Given the description of an element on the screen output the (x, y) to click on. 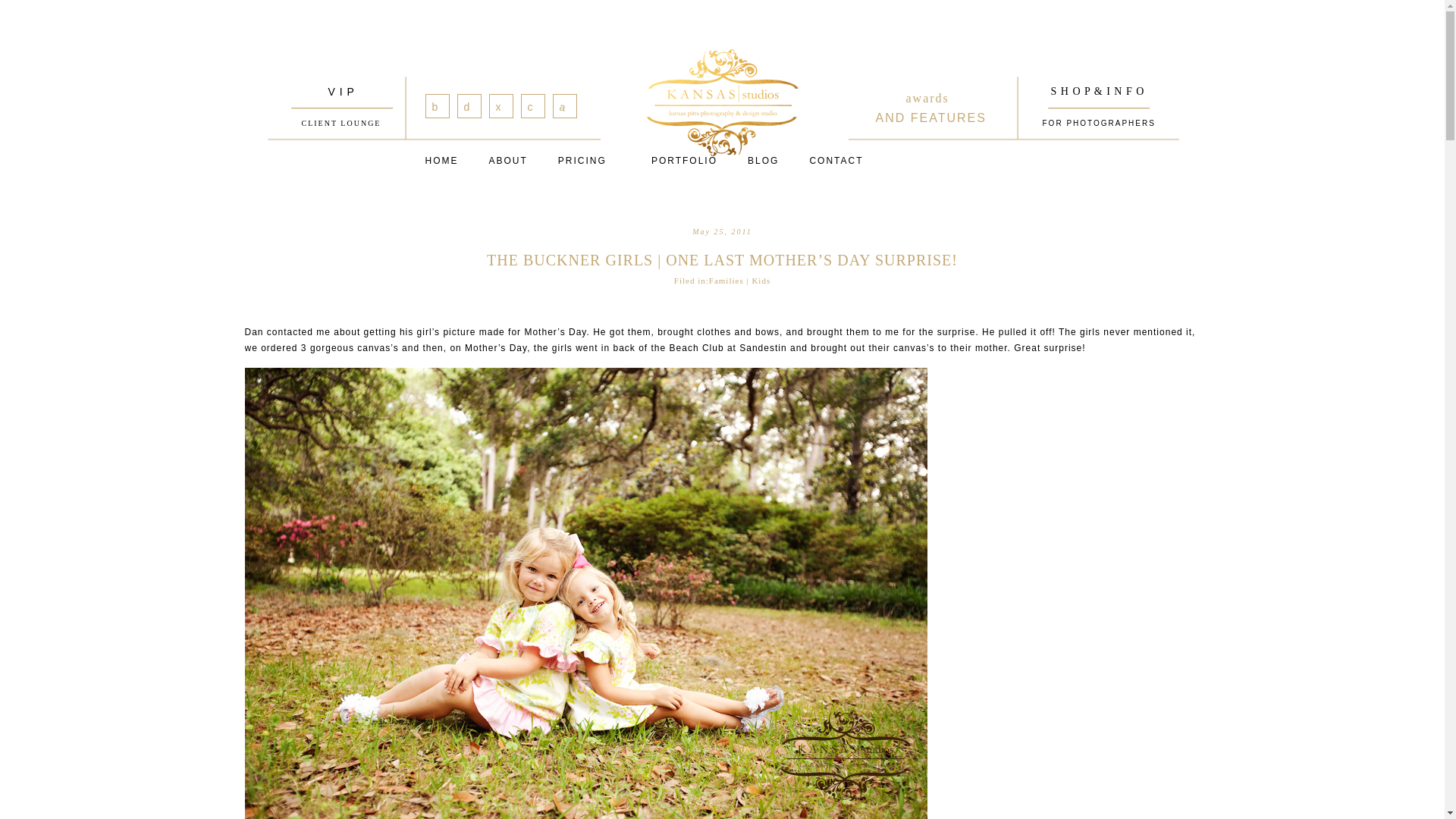
c (940, 105)
CONTACT (531, 105)
BLOG (836, 160)
HOME (763, 160)
b (441, 160)
d (436, 105)
PRICING (468, 105)
x (582, 160)
a (499, 105)
eden state garden pictures  (563, 105)
PORTFOLIO (507, 160)
